Given the description of an element on the screen output the (x, y) to click on. 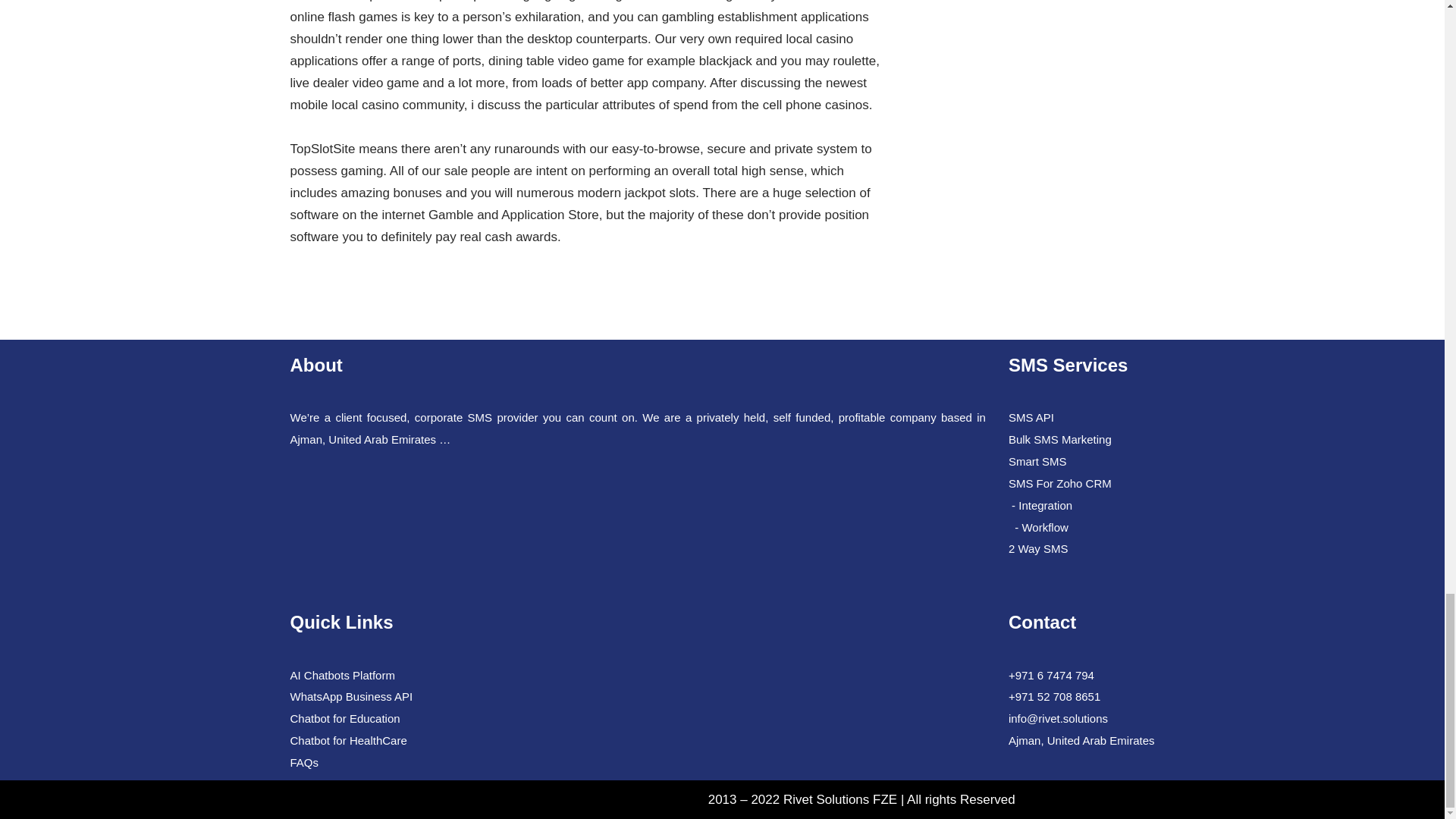
Integration (1044, 504)
Bulk SMS Marketing (1060, 439)
FAQs (303, 762)
Smart SMS (1038, 461)
Workflow (1044, 526)
Chatbot for HealthCare (347, 739)
2 Way SMS (1038, 548)
Chatbot for Education (343, 717)
AI Chatbots Platform (341, 674)
SMS API (1031, 417)
